Given the description of an element on the screen output the (x, y) to click on. 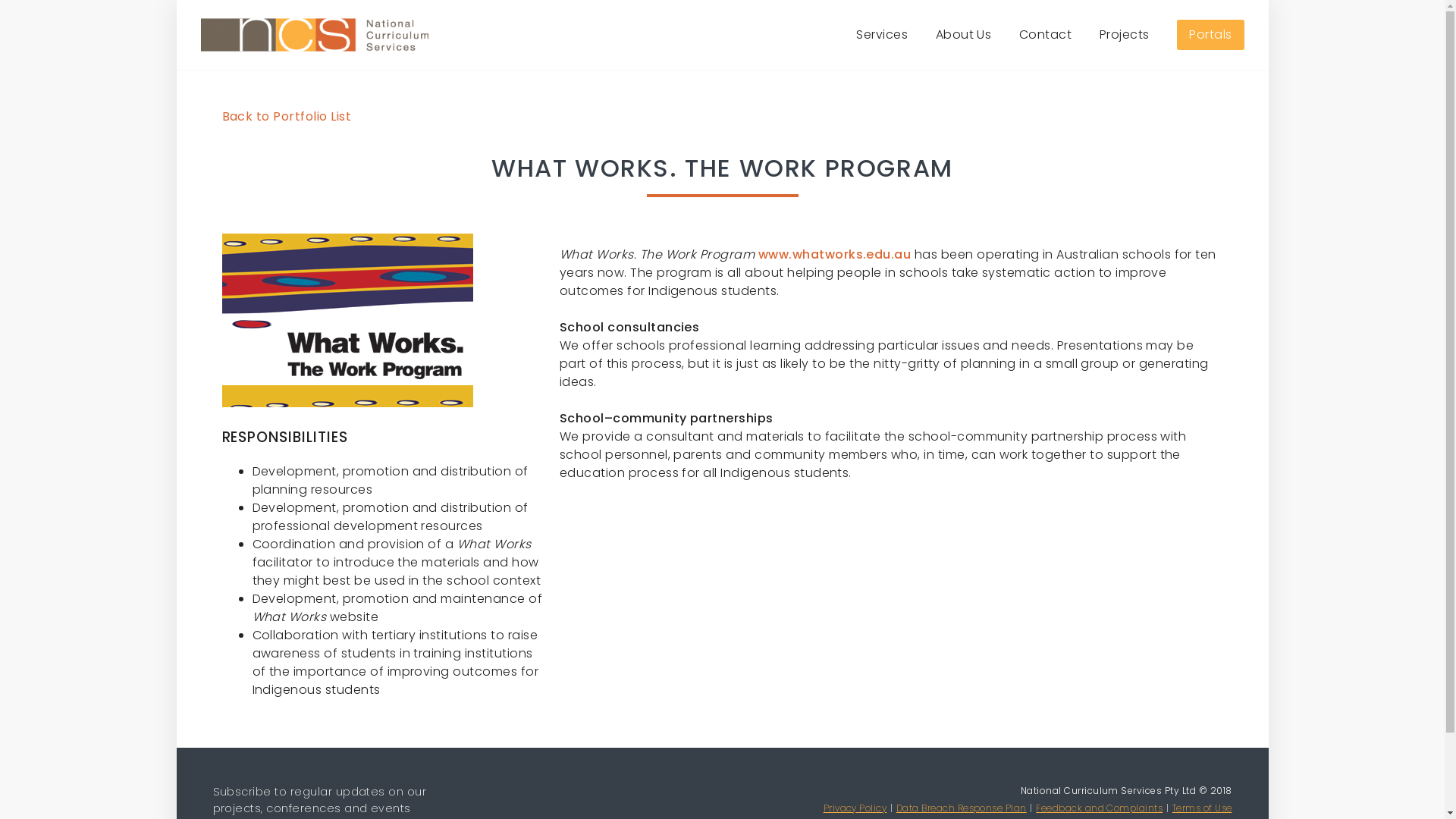
Contact Element type: text (1045, 34)
Back to Portfolio List Element type: text (286, 116)
Projects Element type: text (1124, 34)
Portals Element type: text (1209, 34)
Privacy Policy Element type: text (855, 807)
Data Breach Response Plan Element type: text (961, 807)
About Us Element type: text (963, 34)
Services Element type: text (881, 34)
Terms of Use Element type: text (1202, 807)
www.whatworks.edu.au Element type: text (834, 254)
Feedback and Complaints Element type: text (1098, 807)
